Given the description of an element on the screen output the (x, y) to click on. 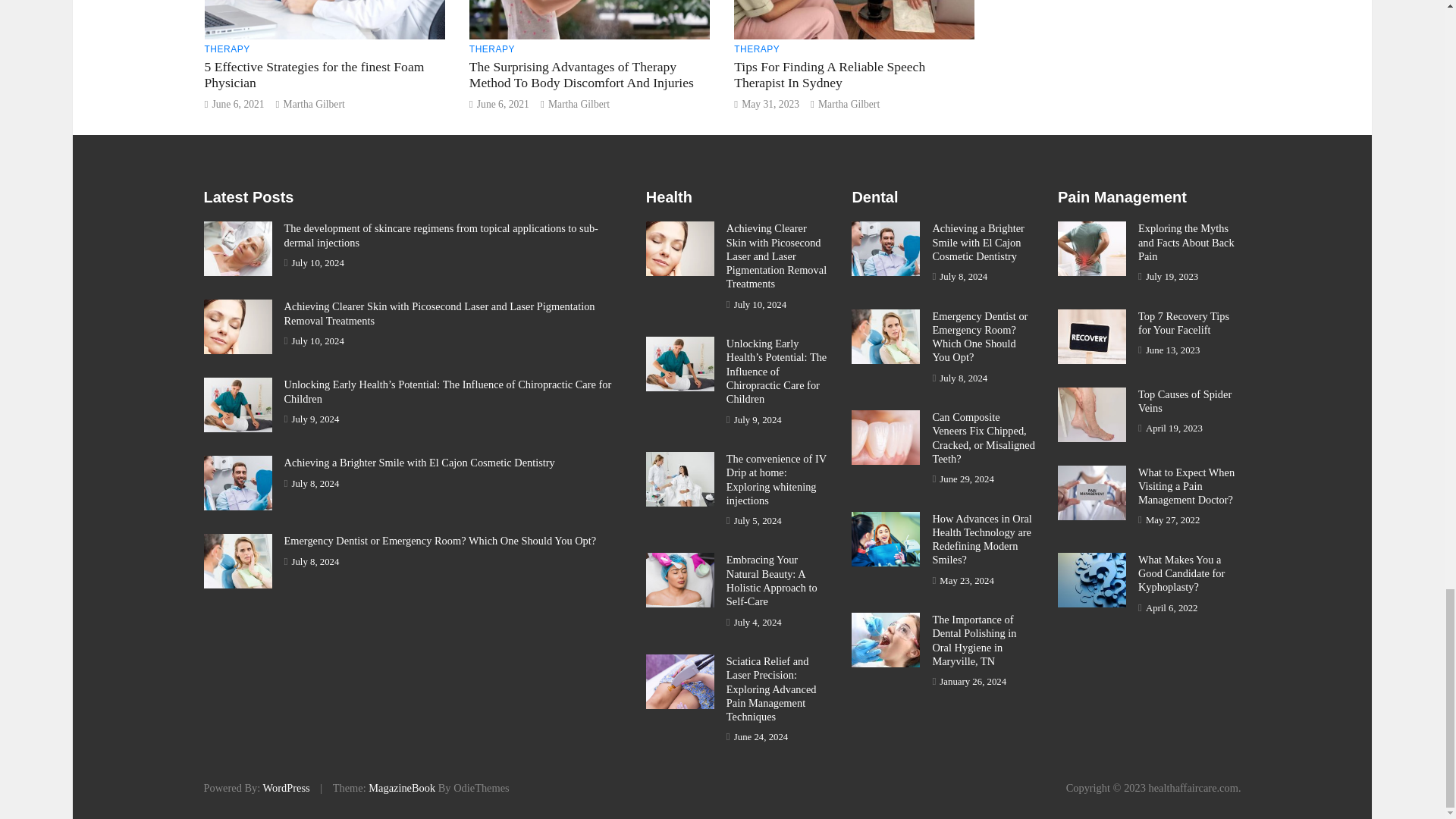
June 6, 2021 (503, 103)
June 6, 2021 (237, 103)
THERAPY (491, 49)
Martha Gilbert (579, 103)
THERAPY (755, 49)
Martha Gilbert (314, 103)
5 Effective Strategies for the finest Foam Physician (315, 74)
THERAPY (227, 49)
